Given the description of an element on the screen output the (x, y) to click on. 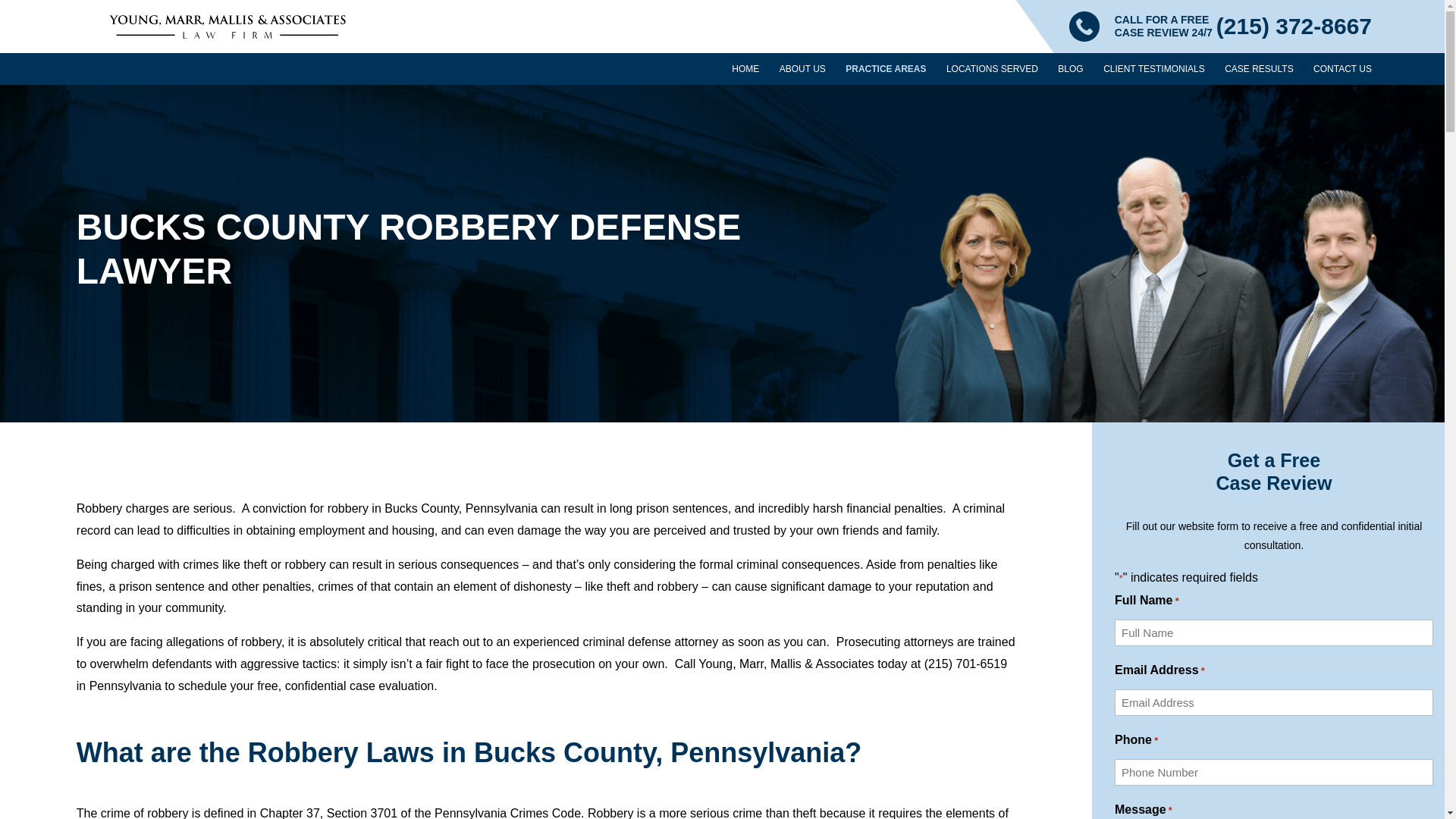
ABOUT US (801, 74)
HOME (745, 74)
PRACTICE AREAS (885, 74)
